Given the description of an element on the screen output the (x, y) to click on. 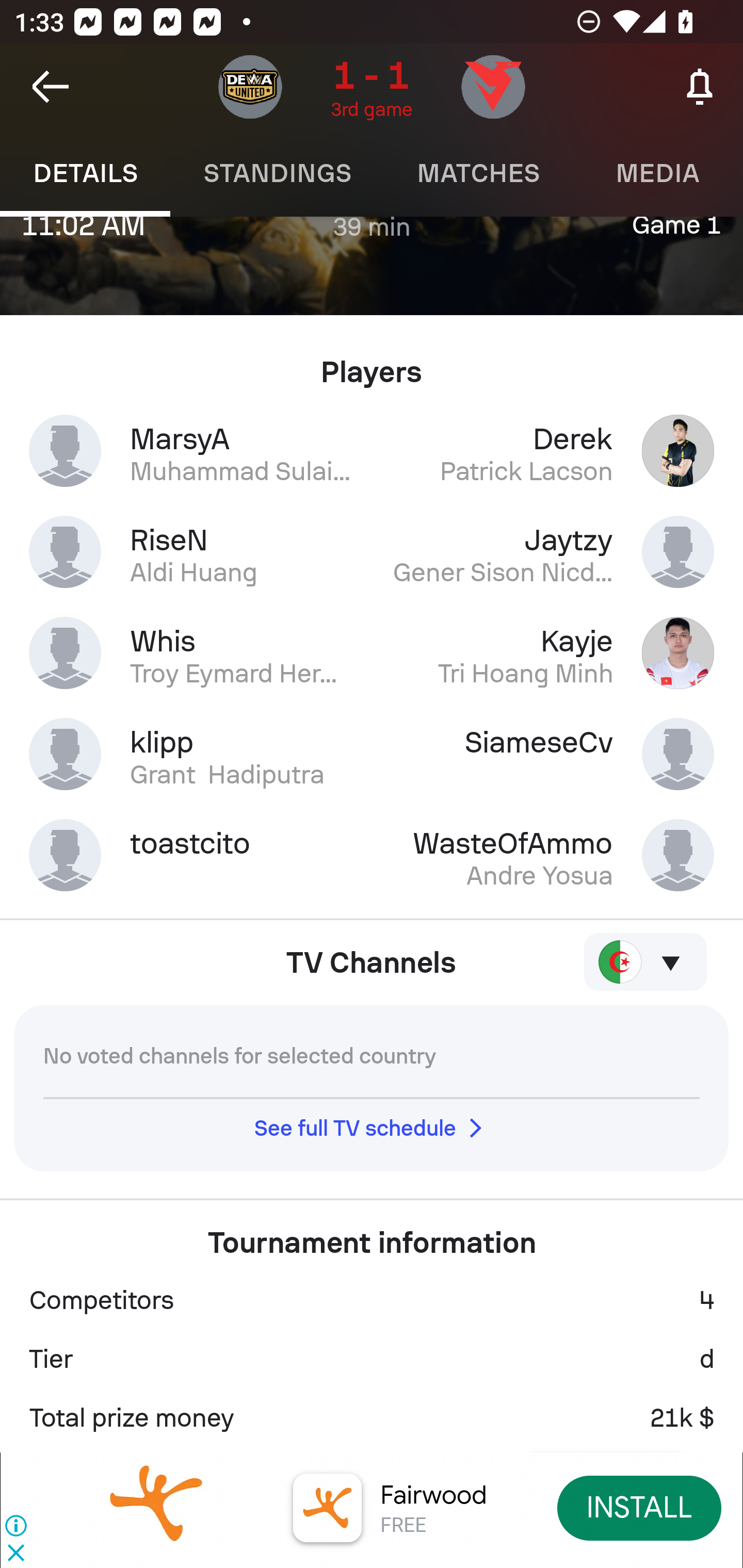
Navigate up (50, 86)
Standings STANDINGS (277, 173)
Matches MATCHES (478, 173)
Media MEDIA (657, 173)
Players (371, 364)
MarsyA Derek Muhammad Sulaiman Patrick Lacson (371, 450)
RiseN Jaytzy Aldi Huang Gener Sison Nicdao Jr (371, 551)
Whis Kayje Troy Eymard Hermosura II Tri Hoang Minh (371, 653)
klipp SiameseCv Grant  Hadiputra   (371, 754)
toastcito WasteOfAmmo   Andre Yosua (371, 855)
See full TV schedule (371, 1128)
INSTALL (639, 1507)
Fairwood (433, 1494)
FREE (403, 1525)
